Given the description of an element on the screen output the (x, y) to click on. 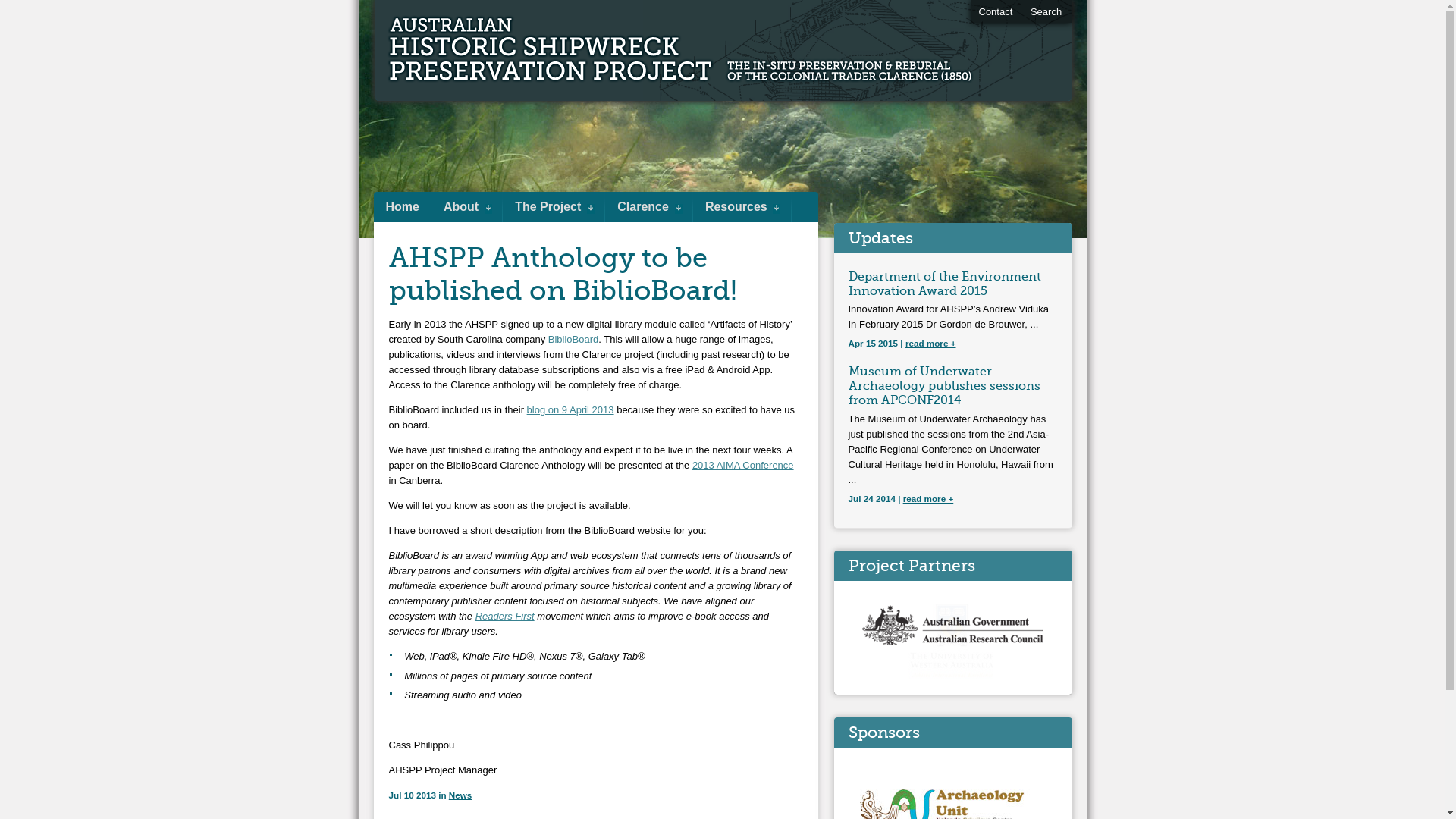
Contact Element type: text (995, 11)
Readers First Element type: text (504, 615)
Search Element type: text (1045, 11)
read more + Element type: text (928, 498)
University of Western Australia Element type: hover (951, 641)
University of Western Australia Element type: hover (951, 675)
Updates Element type: text (879, 238)
Australian Government Australian Research Council Element type: hover (951, 628)
BiblioBoard Element type: text (573, 339)
Australian Government Australian Research Council Element type: hover (951, 649)
Home Element type: text (401, 206)
blog on 9 April 2013 Element type: text (570, 409)
Department of the Environment Innovation Award 2015 Element type: text (943, 283)
News Element type: text (460, 795)
2013 AIMA Conference Element type: text (742, 464)
Australian Historic Shipwreck Preservation Project Element type: text (532, 51)
read more + Element type: text (930, 343)
